Given the description of an element on the screen output the (x, y) to click on. 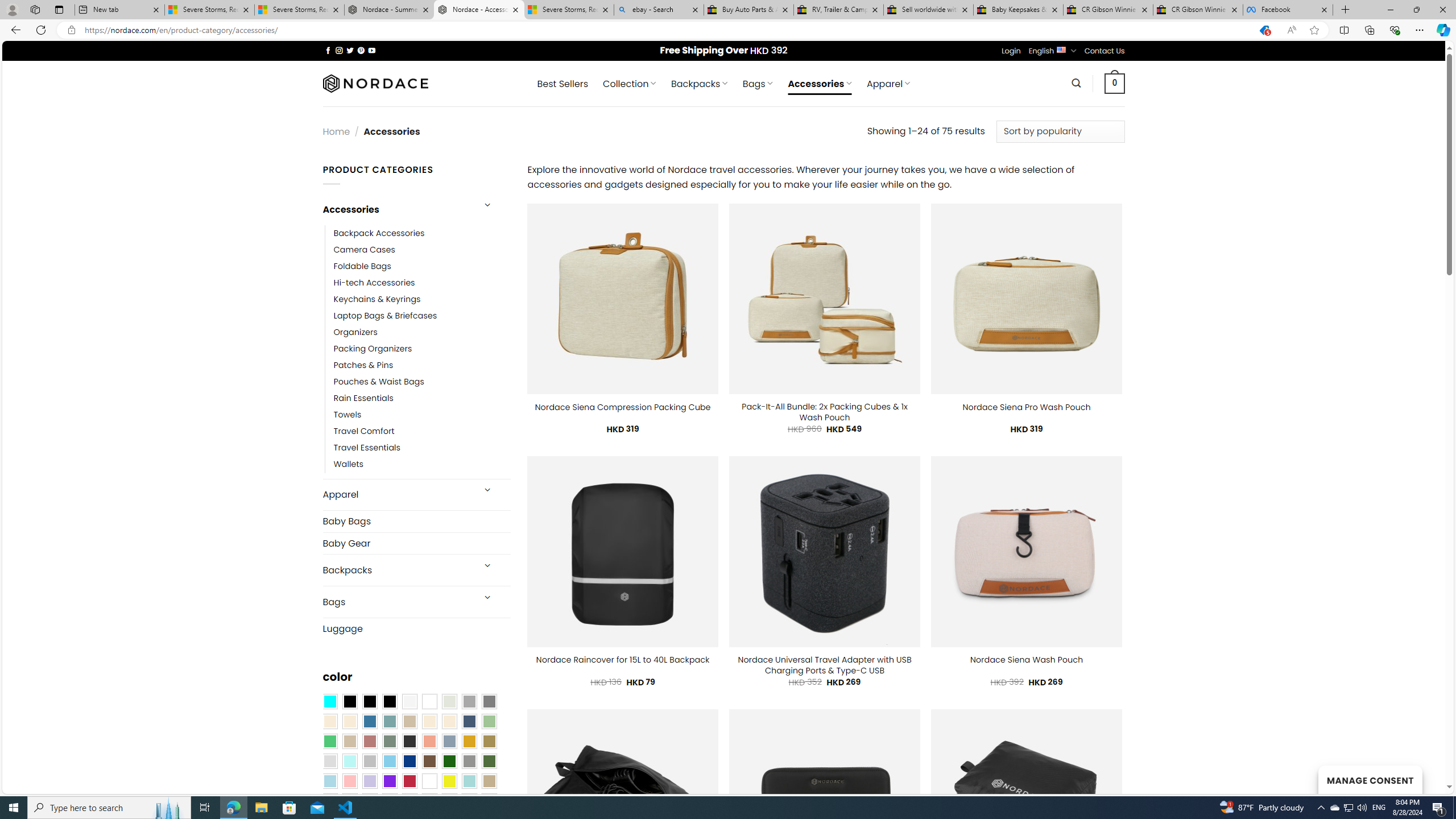
Wallets (348, 464)
Packing Organizers (422, 348)
Silver (369, 761)
Travel Comfort (363, 431)
Patches & Pins (422, 365)
Camera Cases (422, 248)
Mint (349, 761)
Camera Cases (363, 248)
Light Blue (329, 780)
Baby Bags (416, 521)
